Given the description of an element on the screen output the (x, y) to click on. 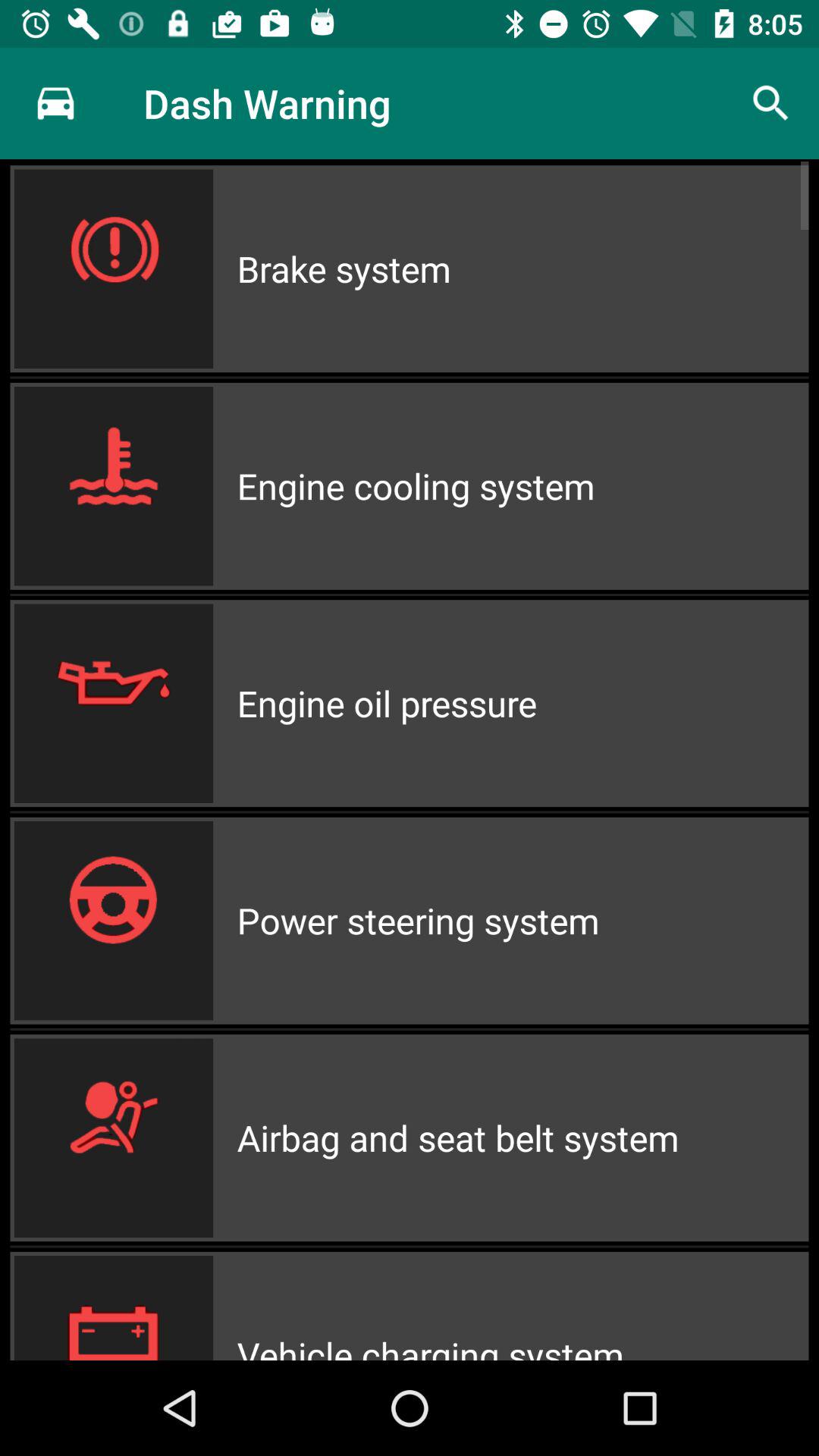
swipe until the engine cooling system item (522, 485)
